Given the description of an element on the screen output the (x, y) to click on. 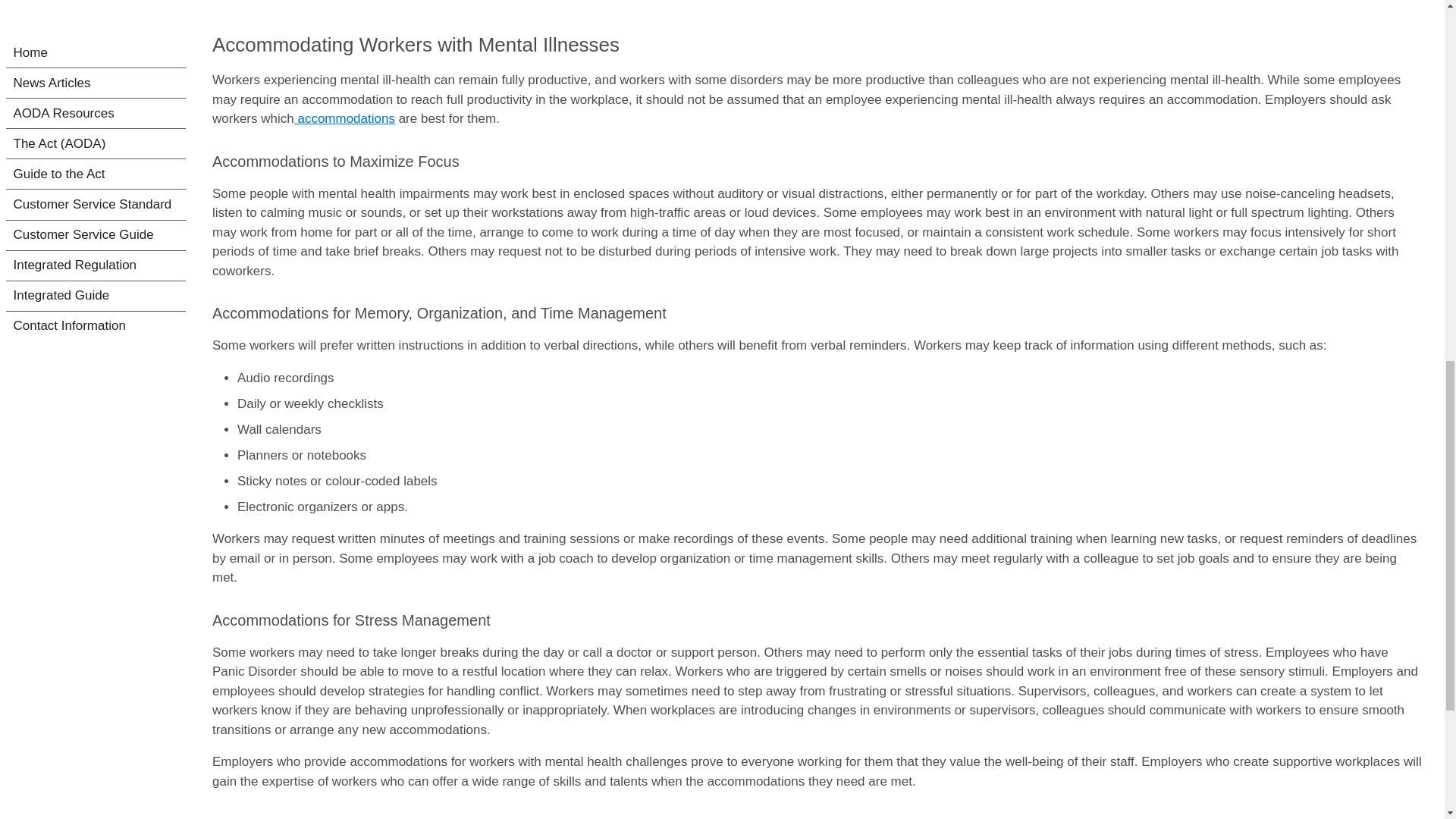
 accommodations (344, 118)
